Given the description of an element on the screen output the (x, y) to click on. 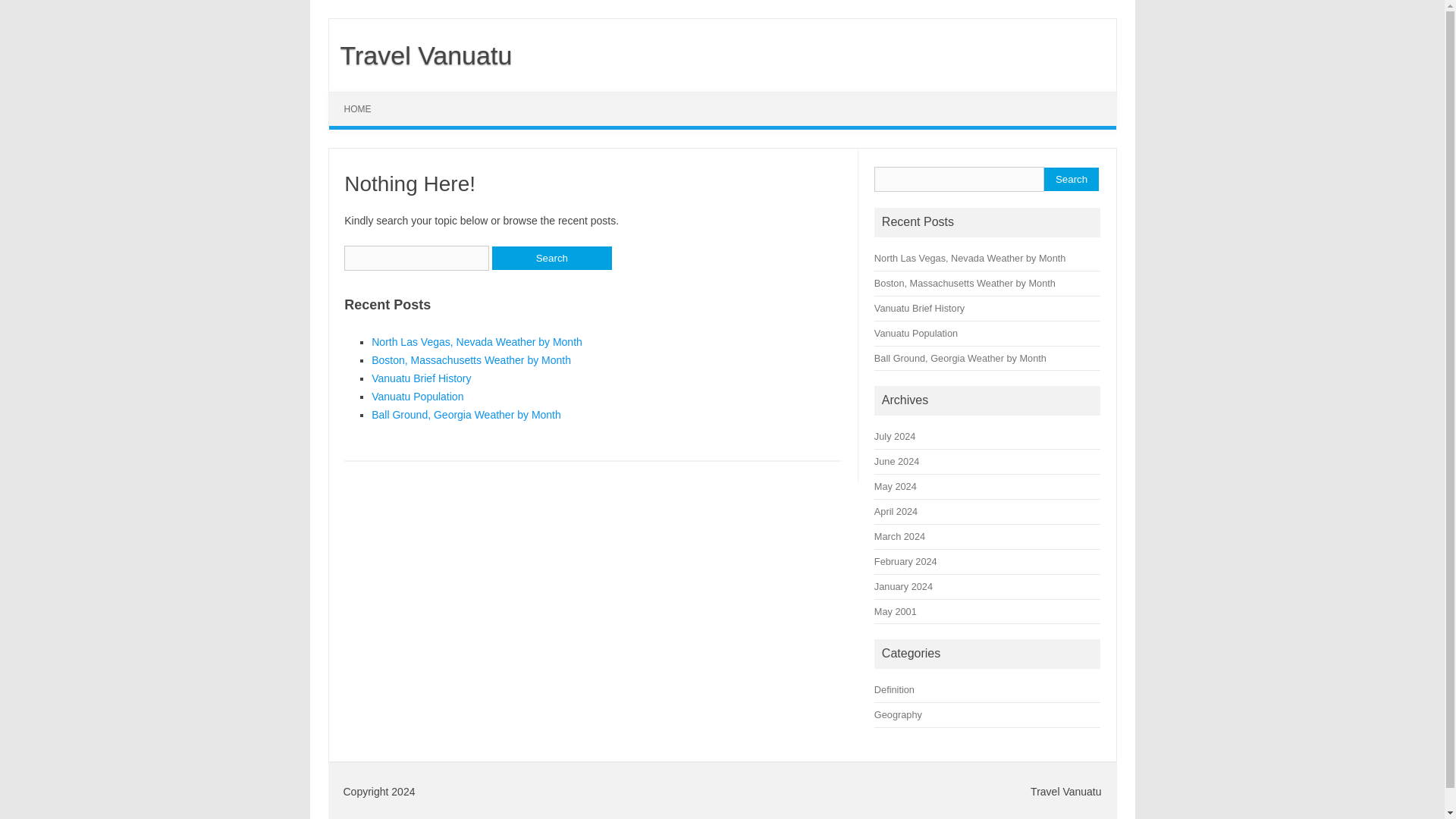
May 2001 (896, 611)
June 2024 (896, 460)
Boston, Massachusetts Weather by Month (470, 359)
March 2024 (899, 536)
January 2024 (904, 586)
Travel Vanuatu (420, 54)
North Las Vegas, Nevada Weather by Month (970, 257)
July 2024 (895, 436)
Skip to content (363, 96)
Ball Ground, Georgia Weather by Month (960, 357)
Search (1070, 178)
North Las Vegas, Nevada Weather by Month (476, 341)
Ball Ground, Georgia Weather by Month (465, 414)
Vanuatu Population (916, 333)
Definition (894, 689)
